Given the description of an element on the screen output the (x, y) to click on. 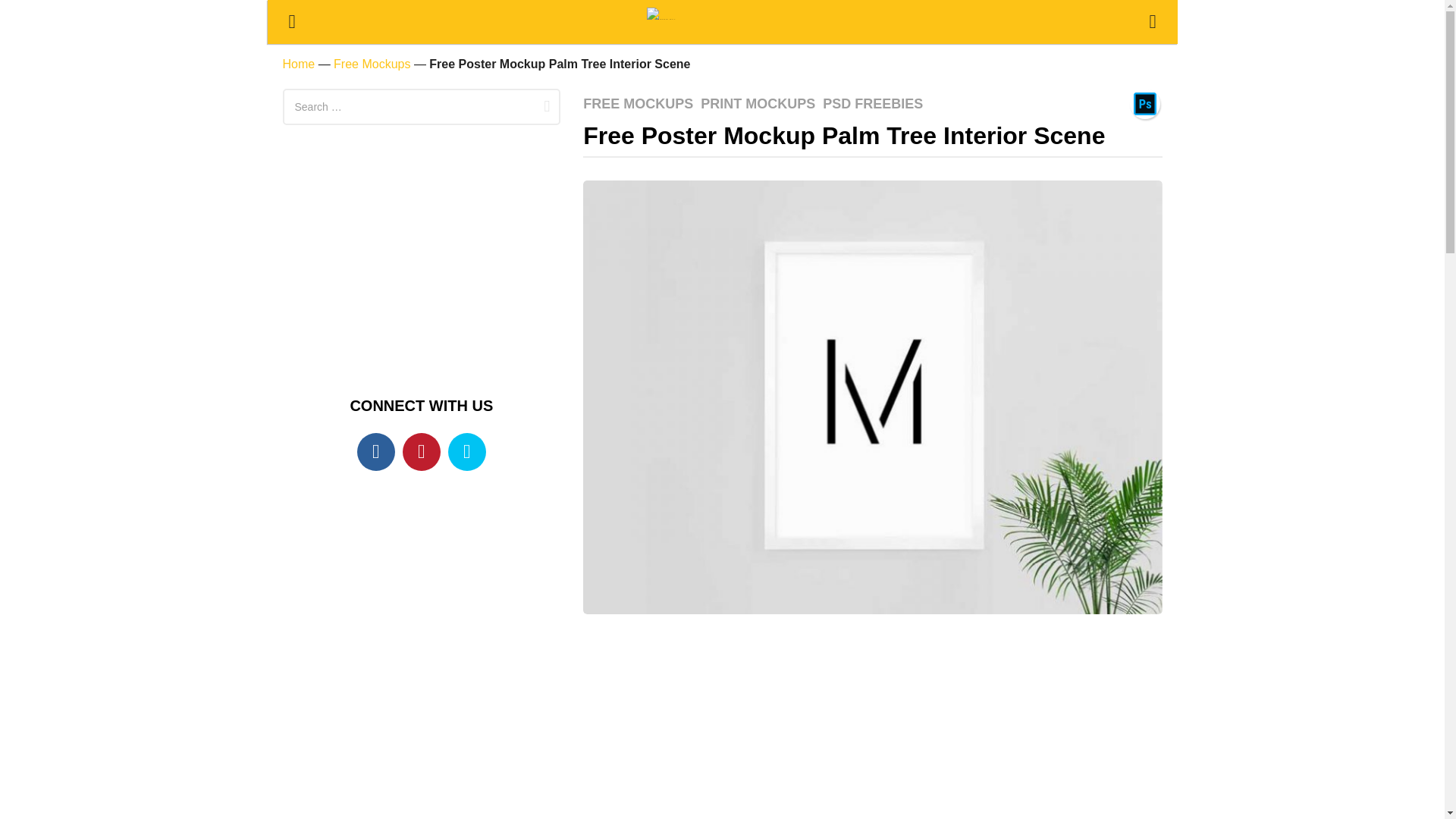
PSD Freebies (1144, 103)
